Given the description of an element on the screen output the (x, y) to click on. 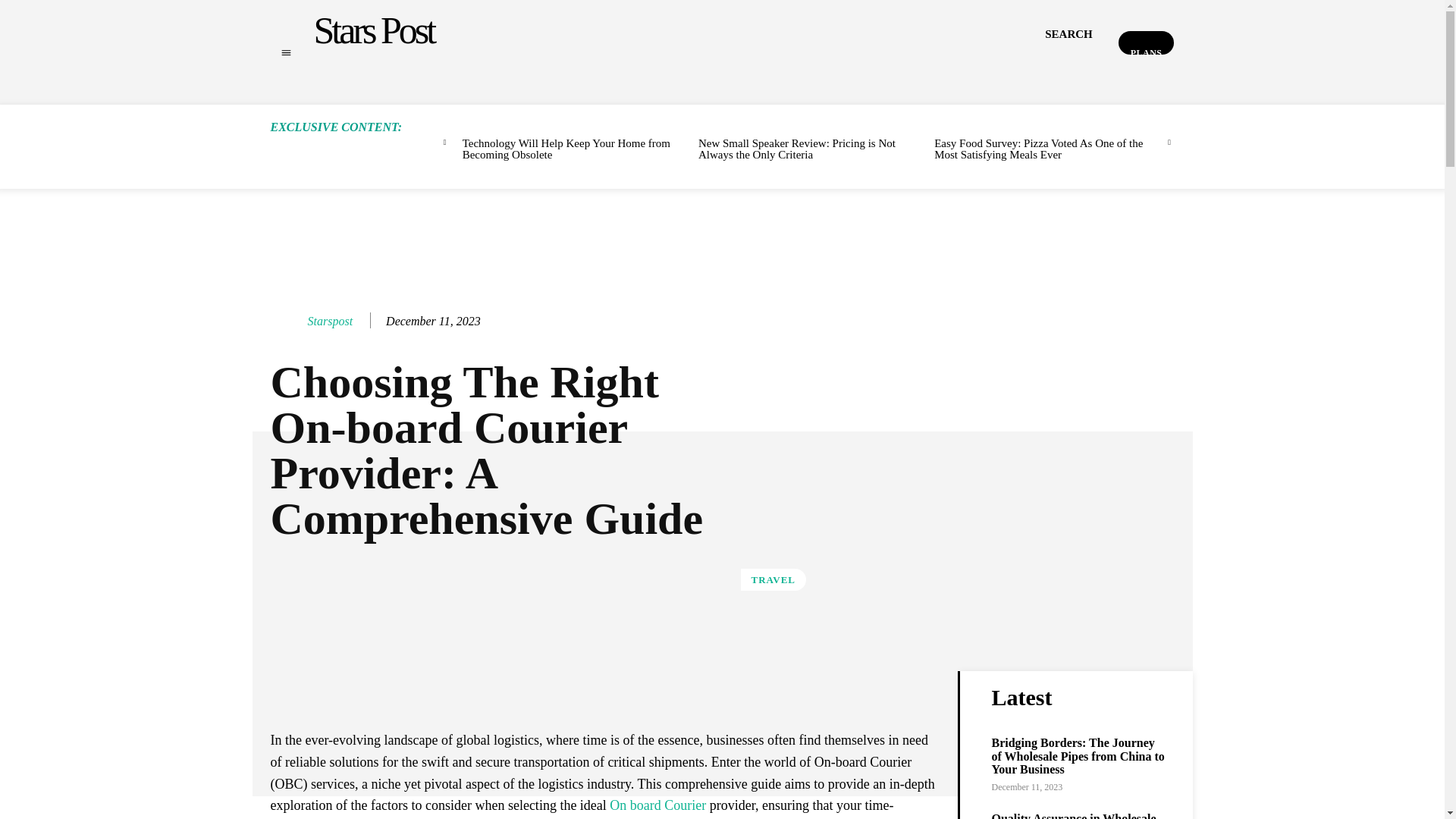
Technology Will Help Keep Your Home from Becoming Obsolete (566, 148)
